Given the description of an element on the screen output the (x, y) to click on. 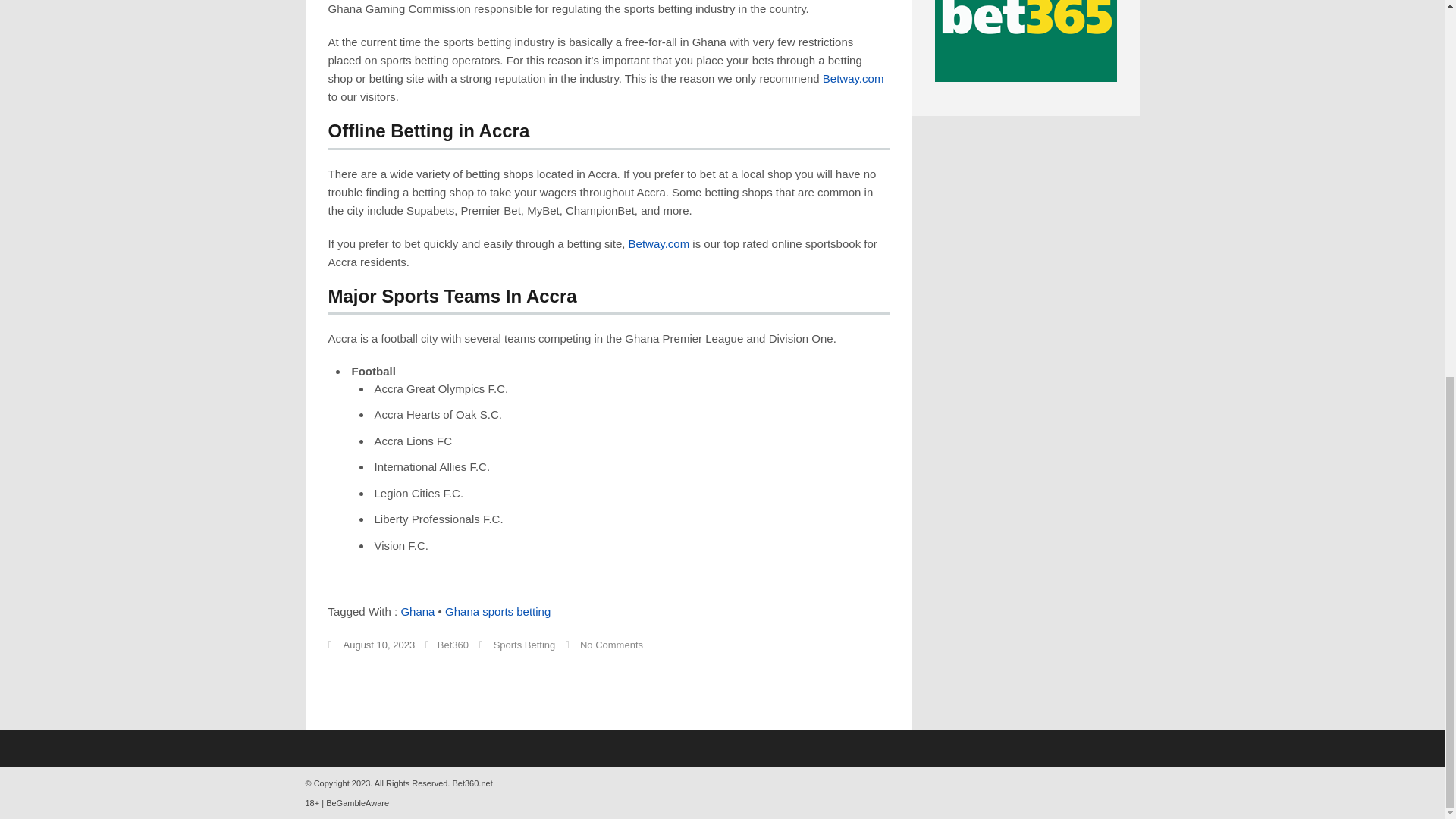
Ghana (416, 611)
Ghana sports betting (497, 611)
Bet360 (453, 644)
Betway.com (659, 243)
Posts by Bet360 (453, 644)
Betway.com (852, 78)
BeGambleAware (357, 802)
Sports Betting (524, 644)
No Comments (611, 644)
